Given the description of an element on the screen output the (x, y) to click on. 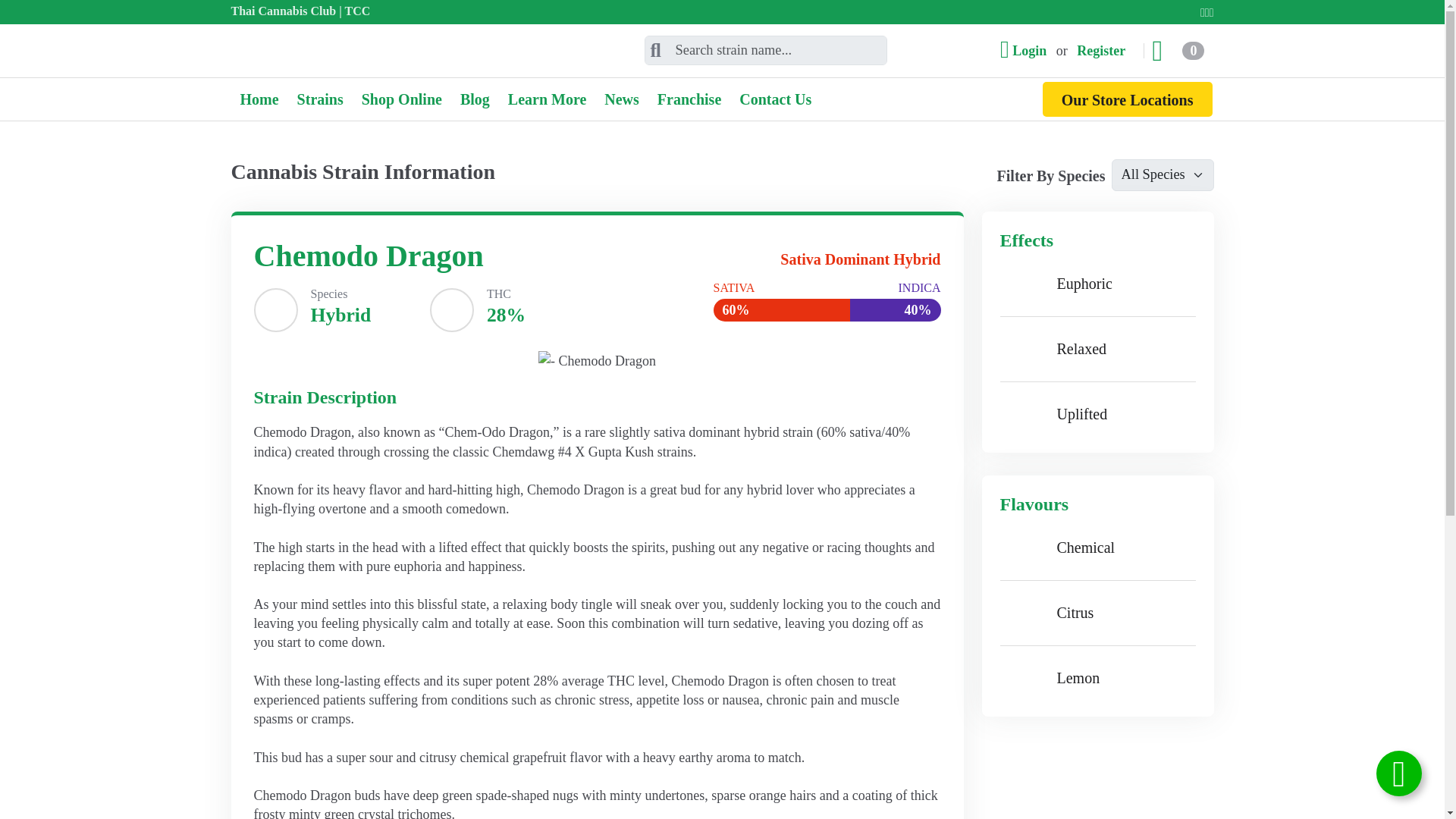
Contact Us (775, 99)
Home (258, 99)
Register (1102, 50)
Shop Online (401, 99)
Our Store Locations (1127, 99)
News (621, 99)
Strains (320, 99)
Franchise (688, 99)
Learn More (547, 99)
Login (1026, 50)
